Given the description of an element on the screen output the (x, y) to click on. 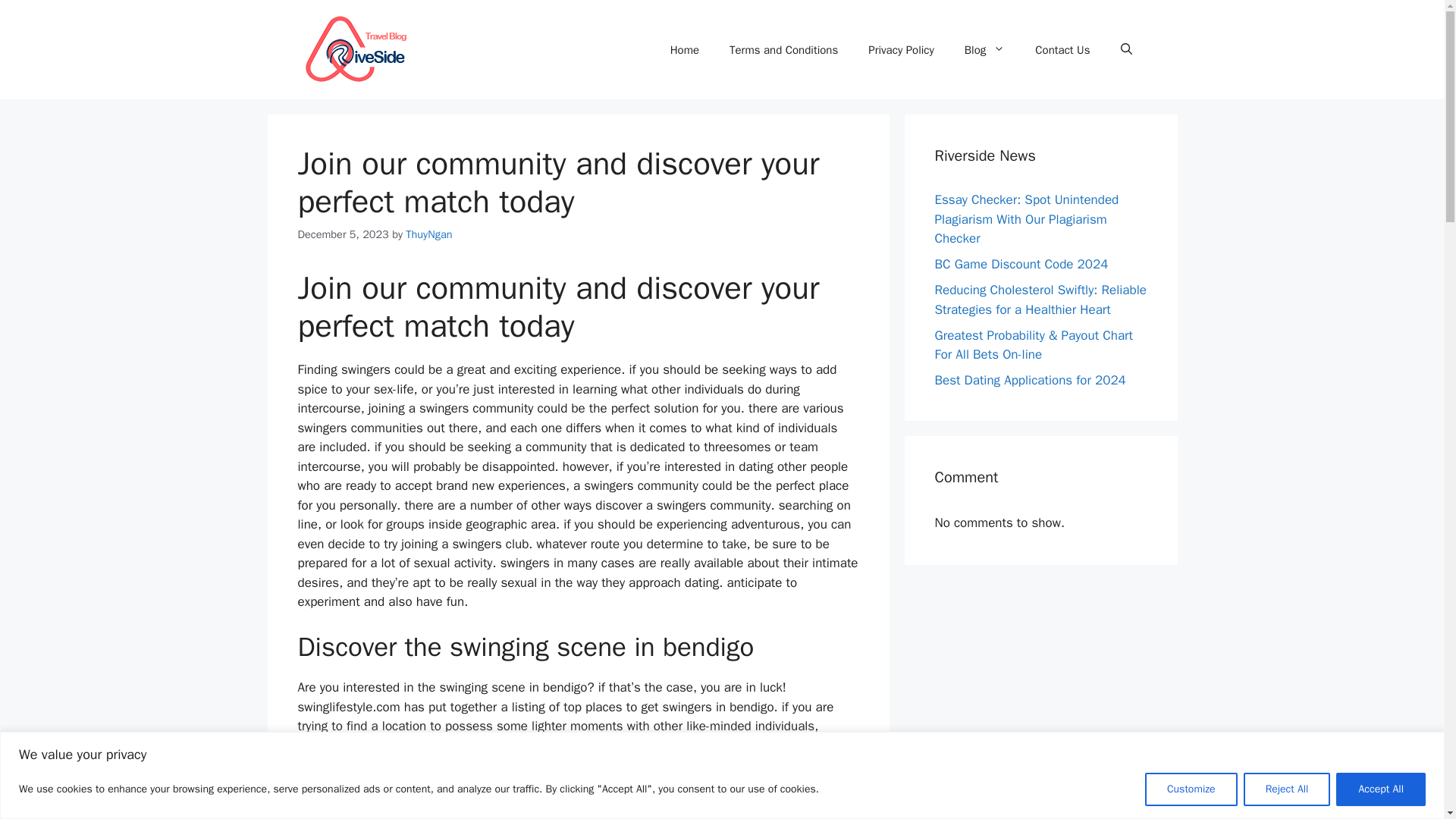
View all posts by ThuyNgan (428, 233)
Accept All (1380, 788)
Customize (1190, 788)
ariverside.com (353, 48)
Privacy Policy (901, 49)
Terms and Conditions (783, 49)
Home (684, 49)
Reject All (1286, 788)
Contact Us (1062, 49)
ariverside.com (353, 49)
Blog (984, 49)
